Given the description of an element on the screen output the (x, y) to click on. 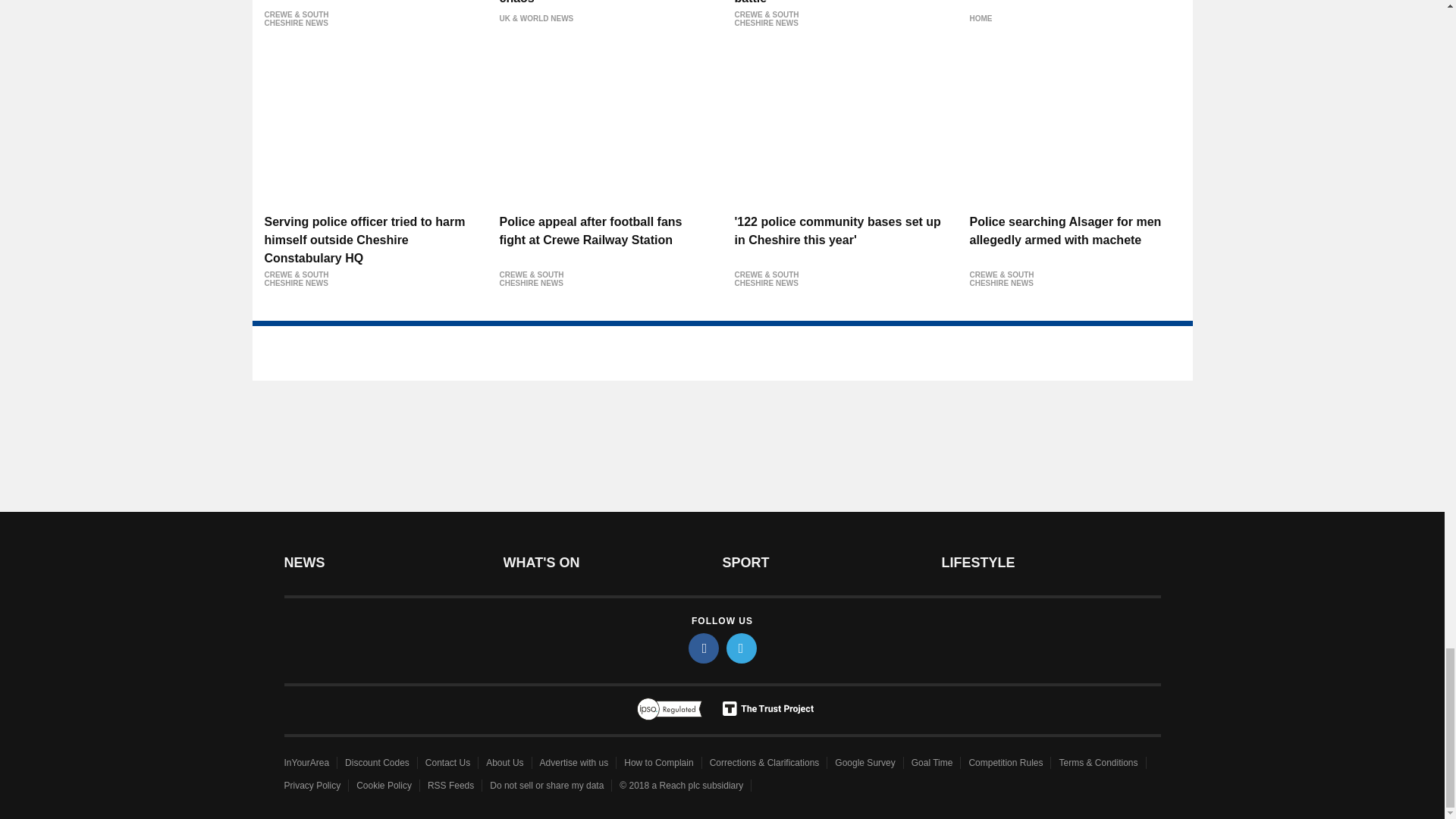
twitter (741, 648)
facebook (703, 648)
